Given the description of an element on the screen output the (x, y) to click on. 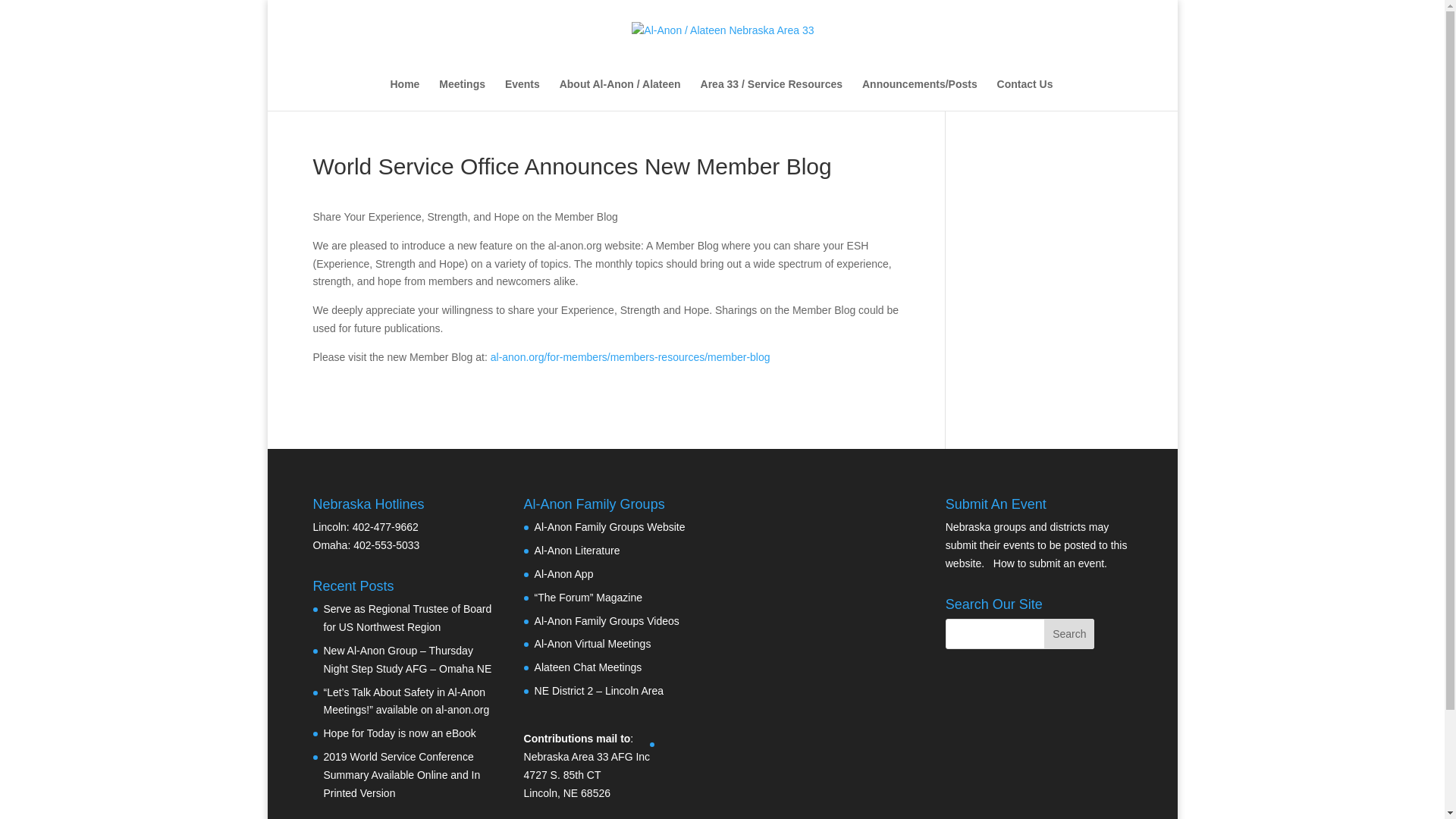
Serve as Regional Trustee of Board for US Northwest Region (407, 617)
Meetings (461, 94)
Al-Anon Family Groups Videos (606, 621)
Al-Anon Literature (577, 550)
Al-Anon Family Groups Website (609, 526)
Al-Anon App (564, 573)
Search (1068, 634)
Alateen Chat Meetings (588, 666)
Search (1068, 634)
